Given the description of an element on the screen output the (x, y) to click on. 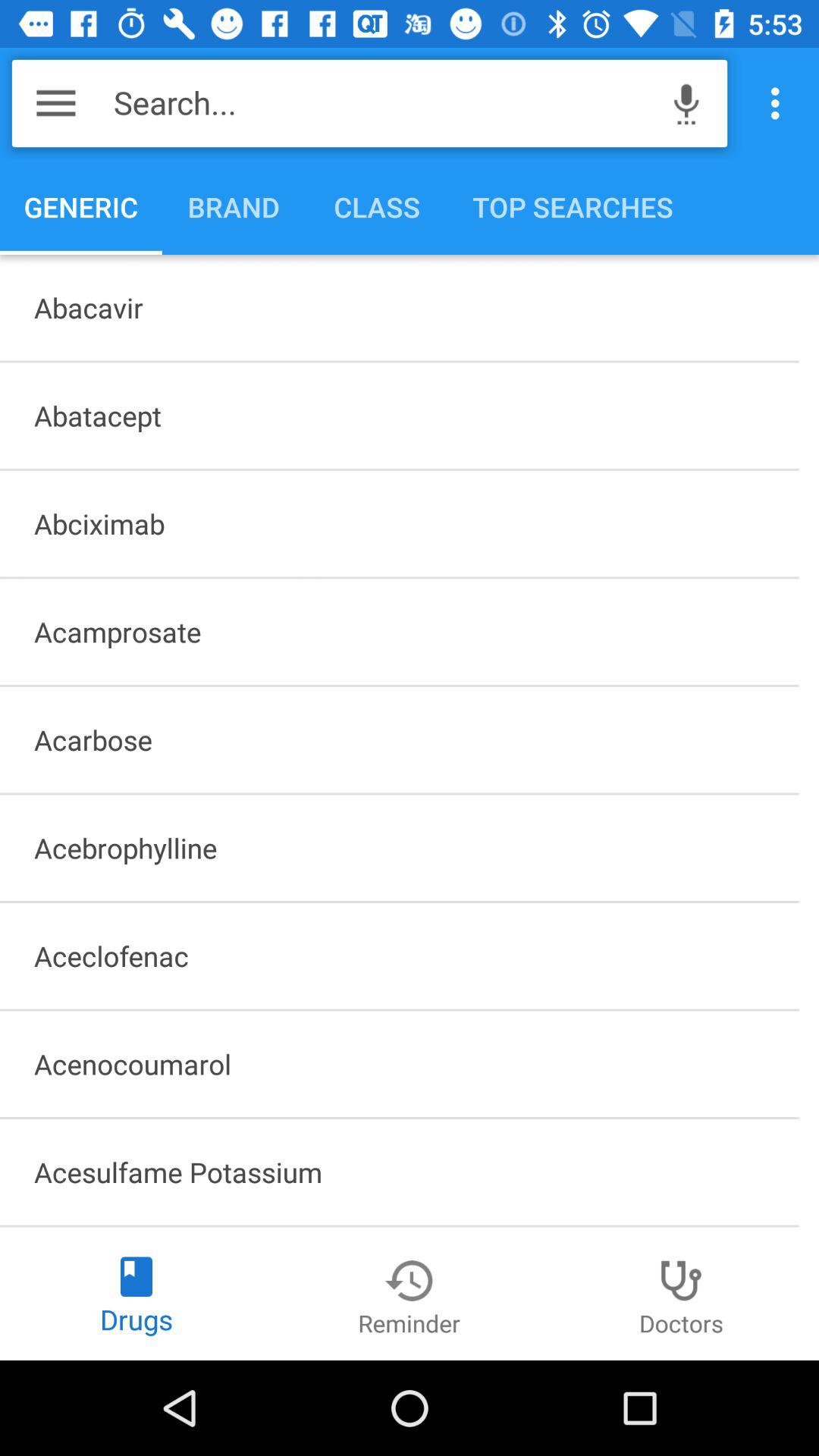
jump until the acamprosate icon (399, 631)
